Given the description of an element on the screen output the (x, y) to click on. 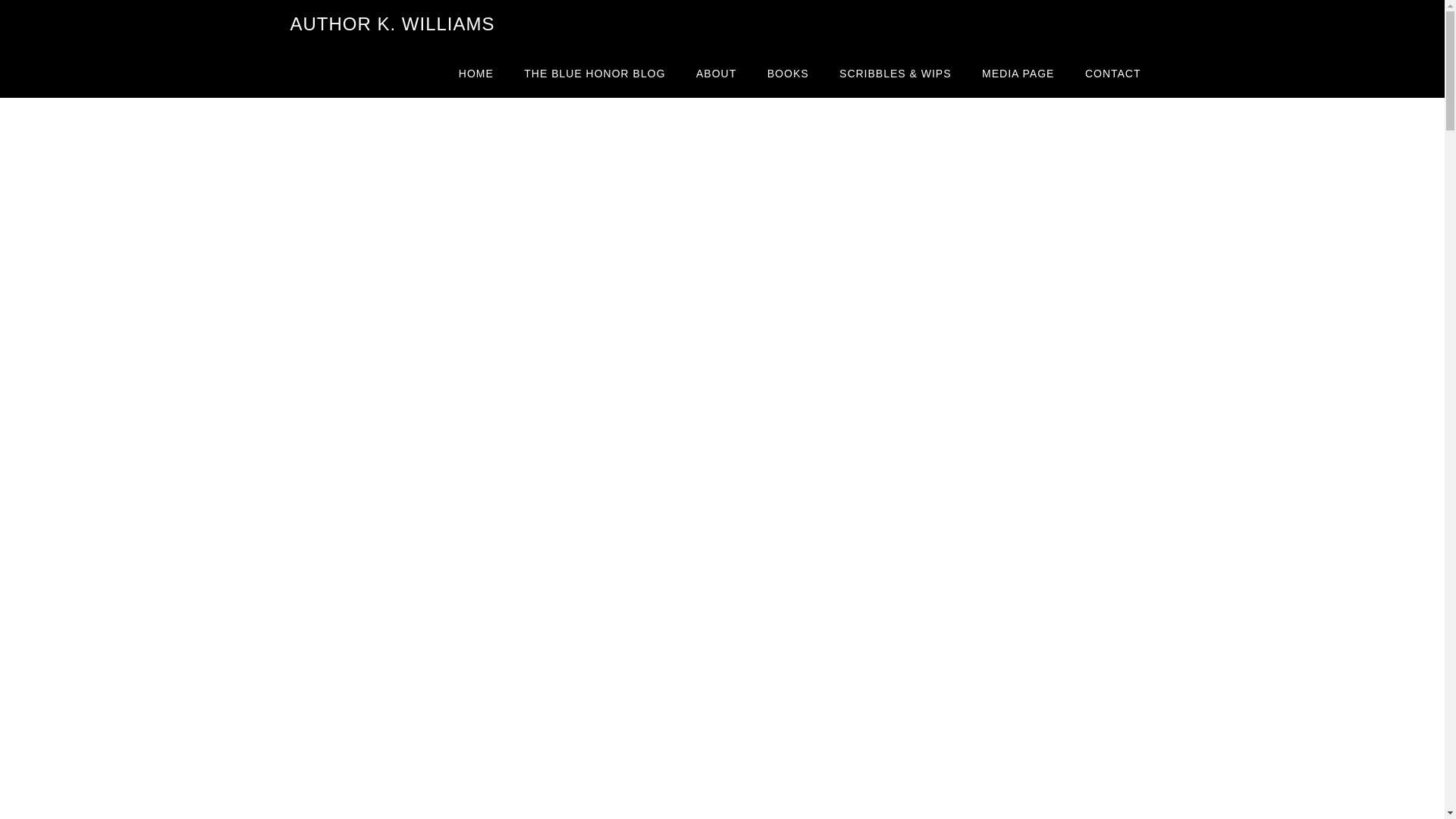
THE BLUE HONOR BLOG (594, 72)
BOOKS (788, 72)
HOME (475, 72)
MEDIA PAGE (1017, 72)
CONTACT (1112, 72)
AUTHOR K. WILLIAMS (392, 23)
ABOUT (715, 72)
